Given the description of an element on the screen output the (x, y) to click on. 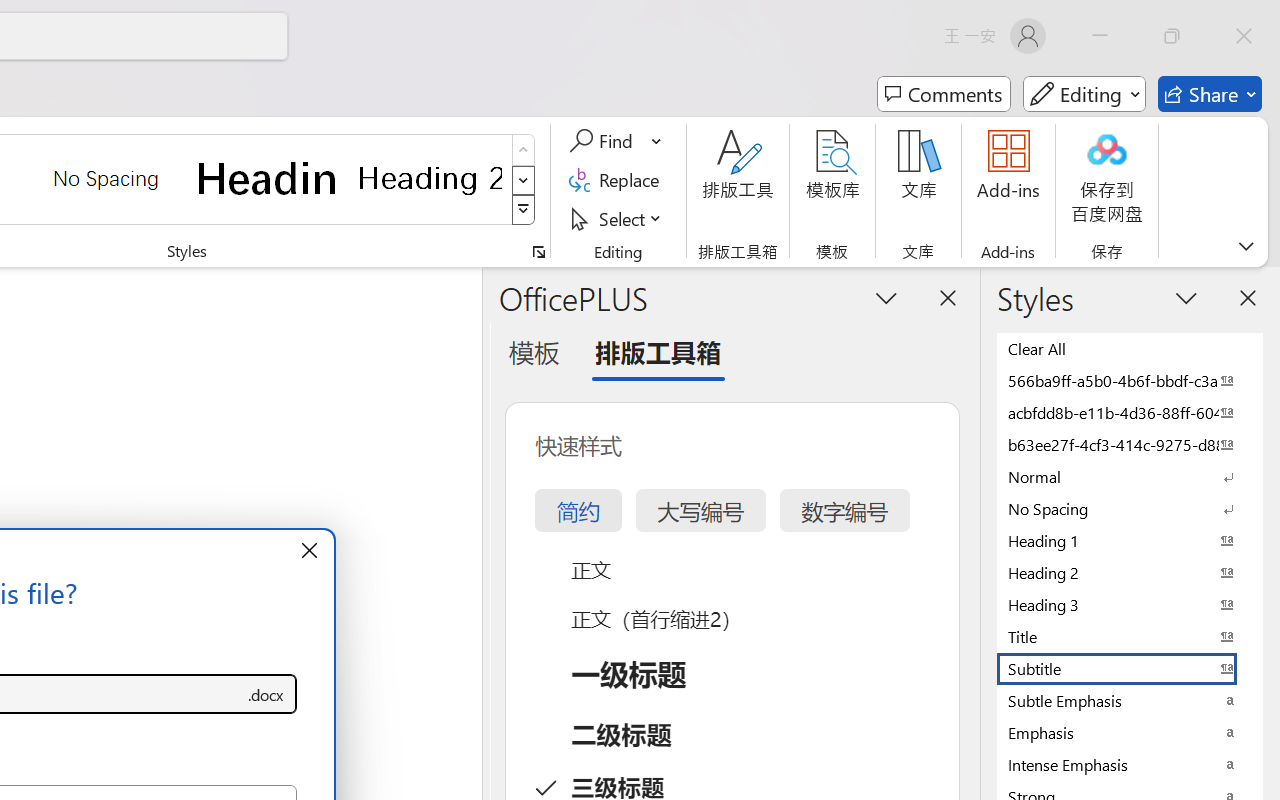
Share (1210, 94)
Styles (523, 209)
Close (1244, 36)
Row Down (523, 180)
Emphasis (1130, 732)
Intense Emphasis (1130, 764)
